Given the description of an element on the screen output the (x, y) to click on. 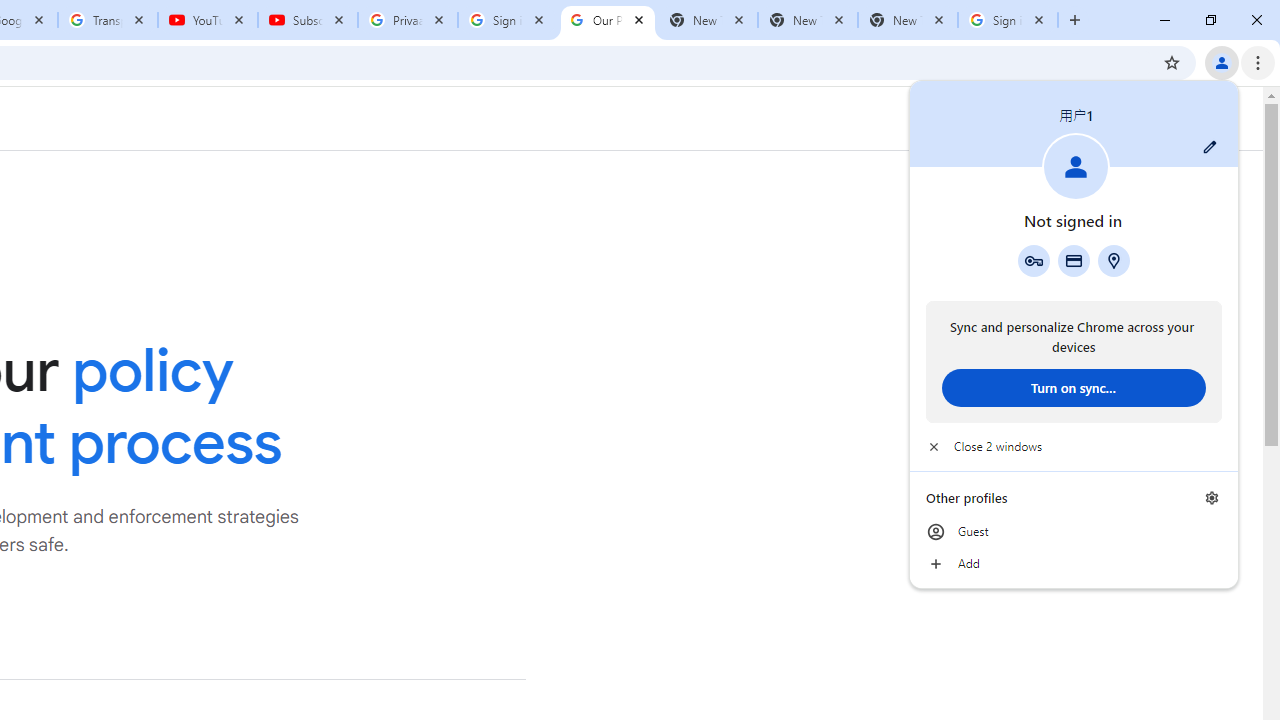
Manage profiles (1211, 498)
Sign in - Google Accounts (1007, 20)
New Tab (907, 20)
Close 2 windows (1073, 446)
